Given the description of an element on the screen output the (x, y) to click on. 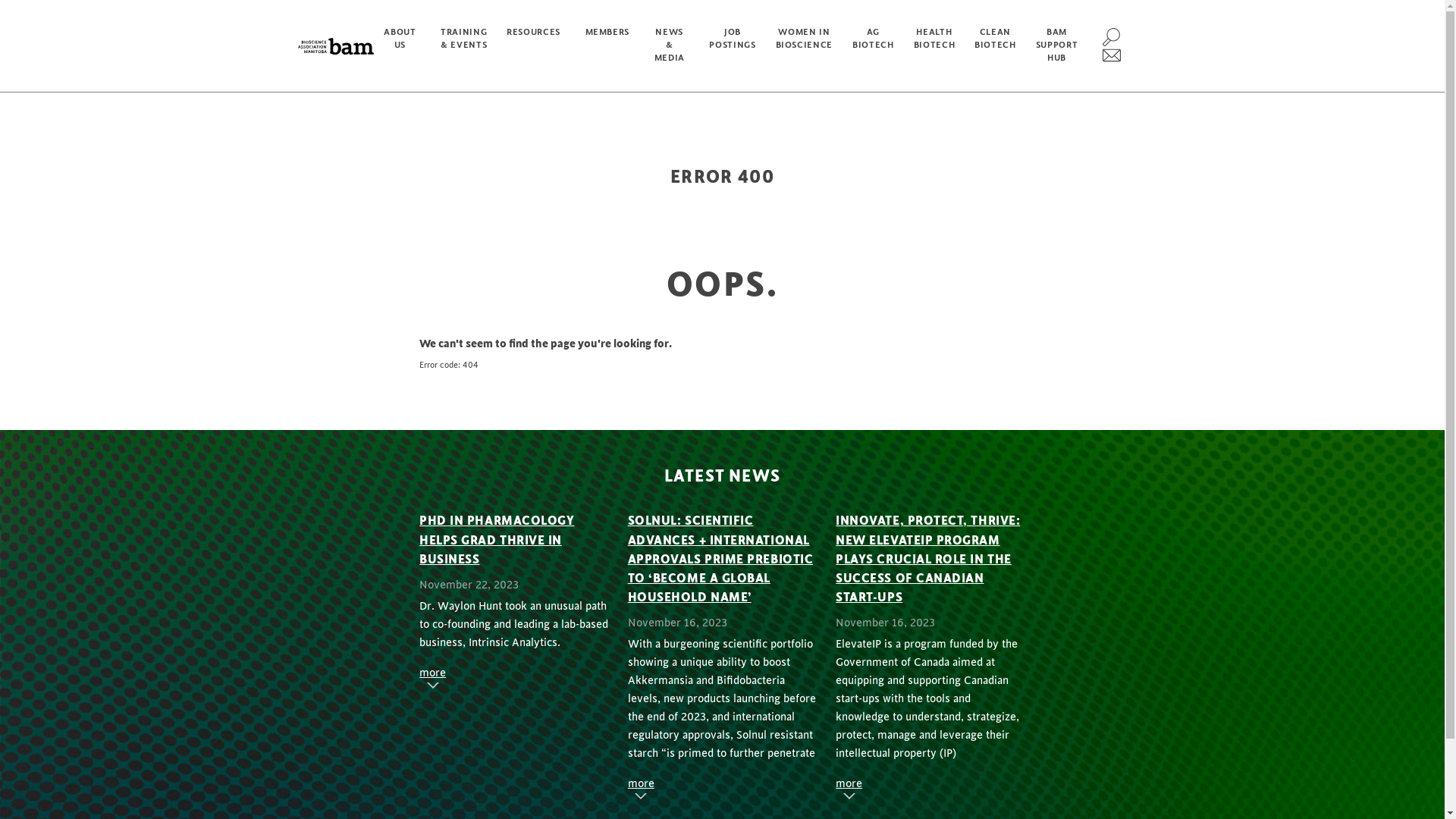
BAM SUPPORT HUB Element type: text (1057, 45)
AG BIOTECH Element type: text (872, 45)
Contact Element type: hover (1111, 55)
Bioscience Association Manitoba Element type: text (335, 46)
Search Site Element type: hover (1111, 36)
TRAINING & EVENTS Element type: text (463, 45)
NEWS & MEDIA Element type: text (671, 45)
more Element type: text (640, 784)
WOMEN IN BIOSCIENCE Element type: text (804, 45)
CLEAN BIOTECH Element type: text (995, 45)
more Element type: text (432, 673)
HEALTH BIOTECH Element type: text (934, 45)
JOB POSTINGS Element type: text (732, 45)
more Element type: text (848, 784)
MEMBERS Element type: text (609, 45)
RESOURCES Element type: text (535, 45)
PHD IN PHARMACOLOGY HELPS GRAD THRIVE IN BUSINESS Element type: text (496, 539)
ABOUT US Element type: text (401, 45)
